Given the description of an element on the screen output the (x, y) to click on. 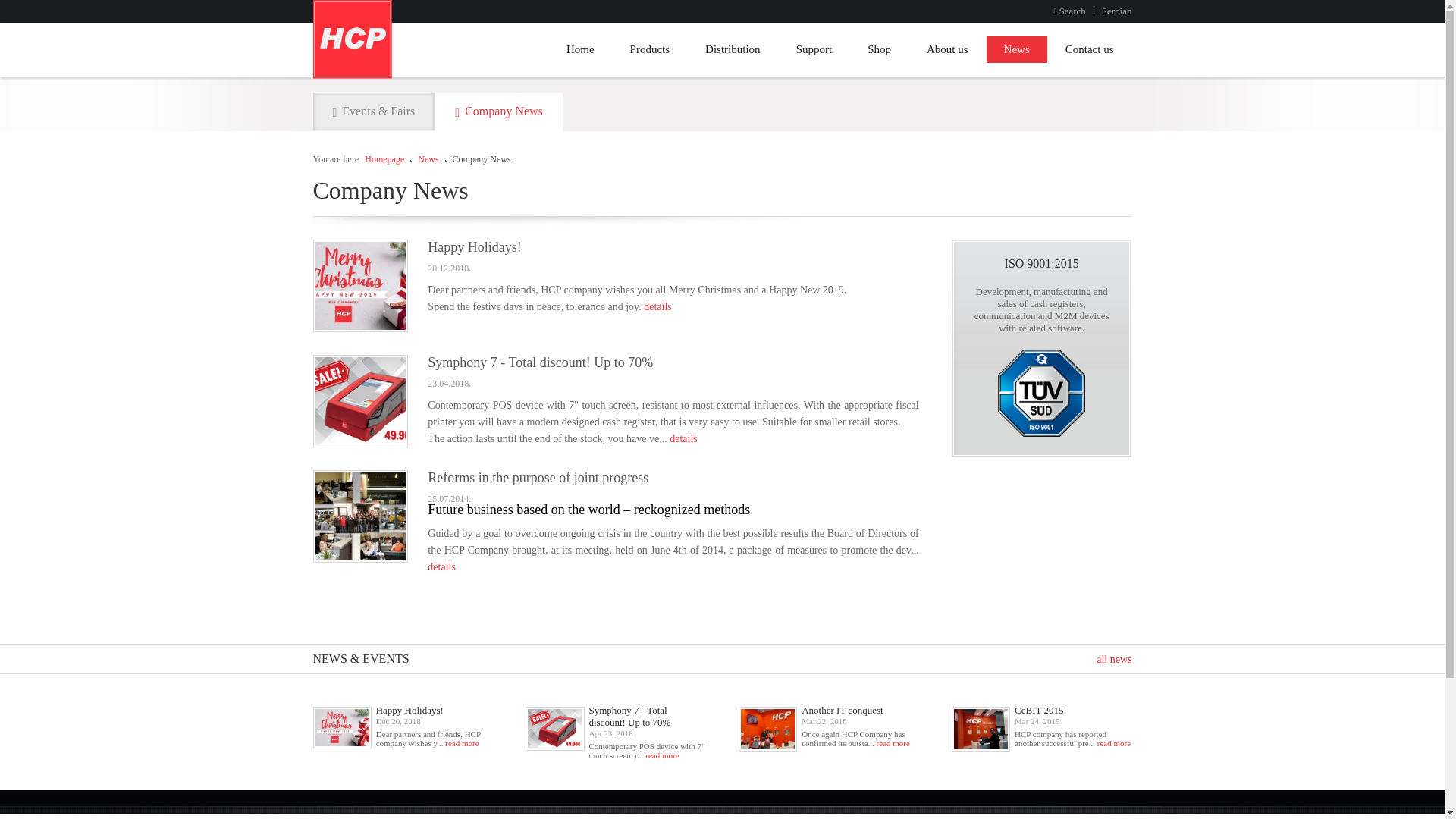
details (657, 306)
Homepage (384, 158)
News (1016, 49)
Happy Holidays! (409, 709)
Distribution (732, 49)
Products (649, 49)
About us (946, 49)
Search (1068, 10)
Contact us (1089, 49)
details (441, 566)
